Given the description of an element on the screen output the (x, y) to click on. 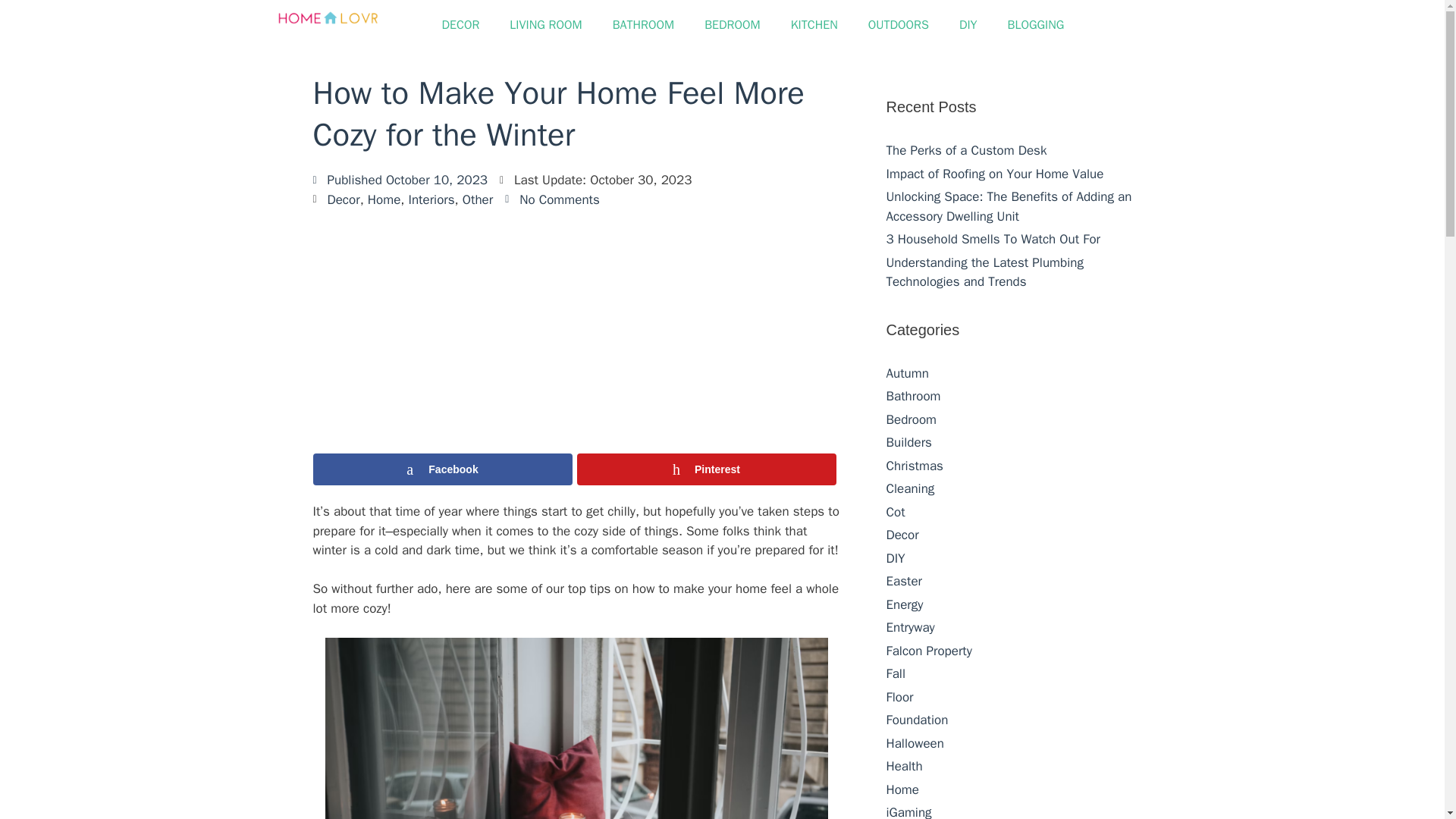
Other (478, 199)
DIY (967, 24)
Interiors (430, 199)
Pinterest (705, 469)
DECOR (460, 24)
Decor (343, 199)
LIVING ROOM (545, 24)
KITCHEN (814, 24)
Facebook (442, 469)
BLOGGING (1036, 24)
Home (384, 199)
No Comments (552, 199)
BEDROOM (732, 24)
OUTDOORS (898, 24)
Impact of Roofing on Your Home Value (994, 172)
